Given the description of an element on the screen output the (x, y) to click on. 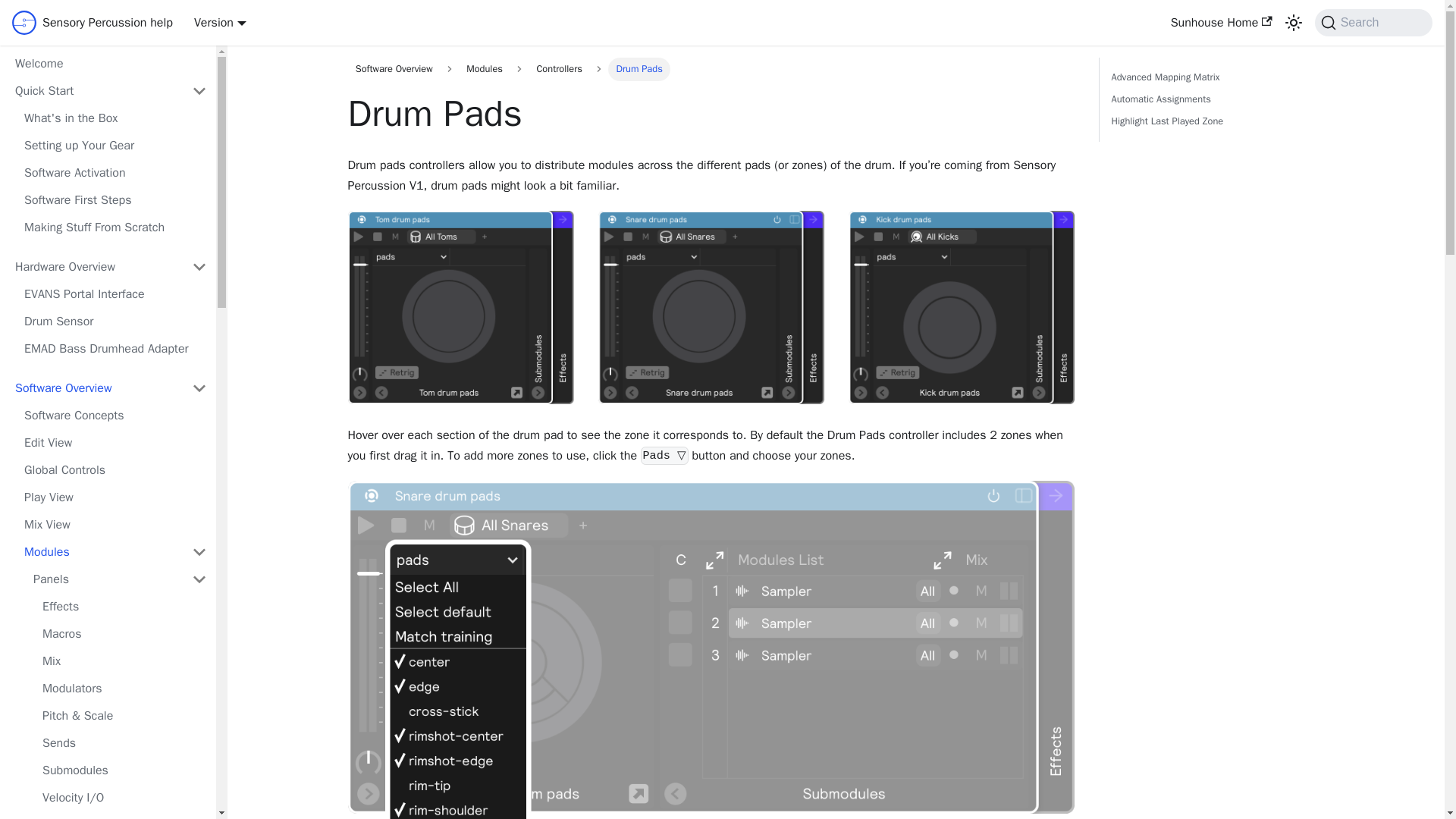
What's in the Box (114, 118)
Sensory Percussion help (92, 22)
Software First Steps (114, 200)
Mix (124, 661)
Software Activation (114, 172)
Macros (124, 633)
Software Concepts (114, 415)
Quick Start (94, 90)
Mix View (114, 524)
Software Overview (94, 387)
Setting up Your Gear (114, 145)
Sends (124, 743)
Edit View (114, 442)
Modules (98, 551)
Version (219, 22)
